Given the description of an element on the screen output the (x, y) to click on. 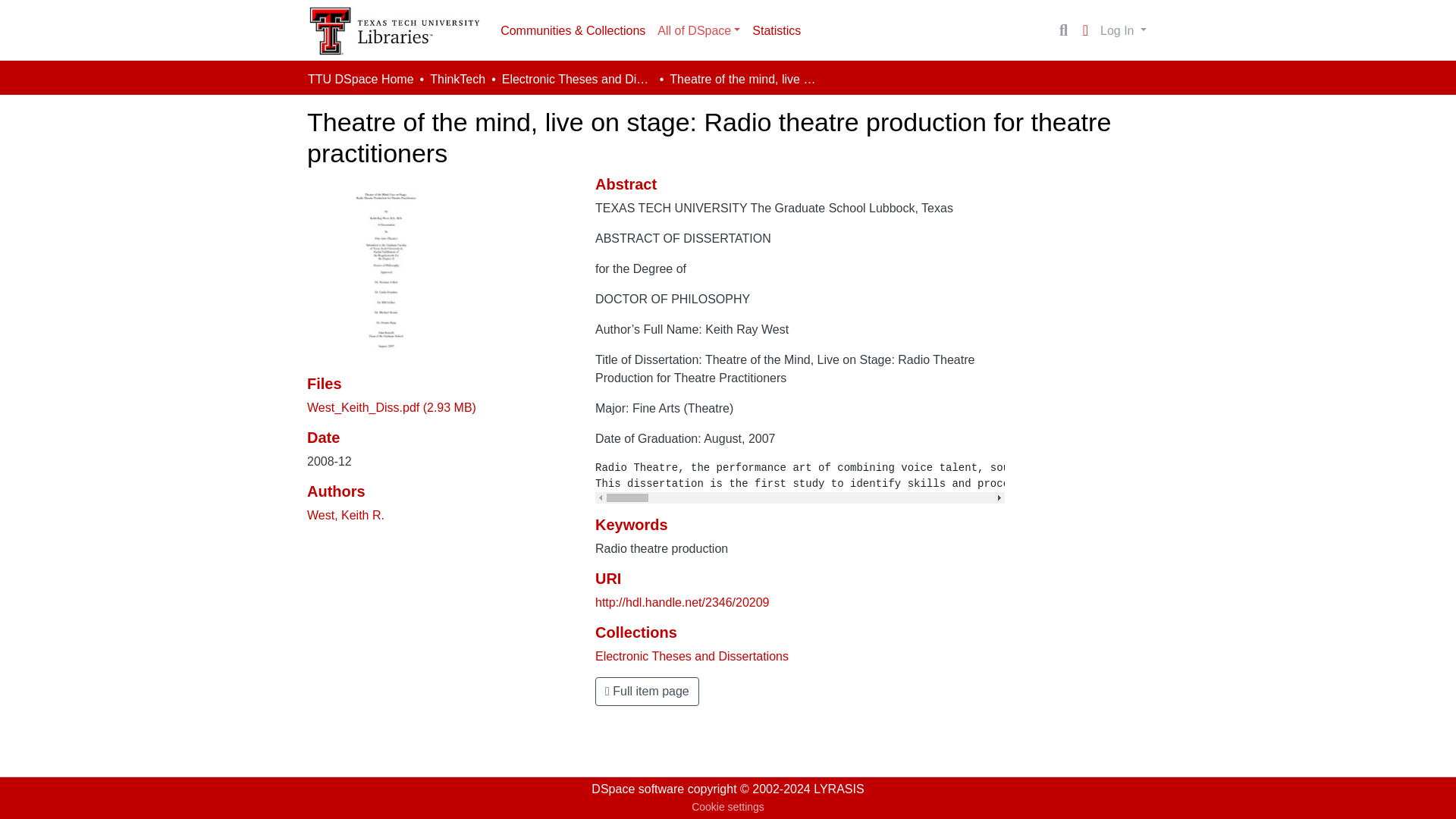
LYRASIS (838, 788)
ThinkTech (456, 79)
Electronic Theses and Dissertations (577, 79)
DSpace software (637, 788)
West, Keith R. (345, 514)
Statistics (775, 30)
Log In (1122, 30)
Full item page (646, 691)
Statistics (775, 30)
All of DSpace (697, 30)
